Given the description of an element on the screen output the (x, y) to click on. 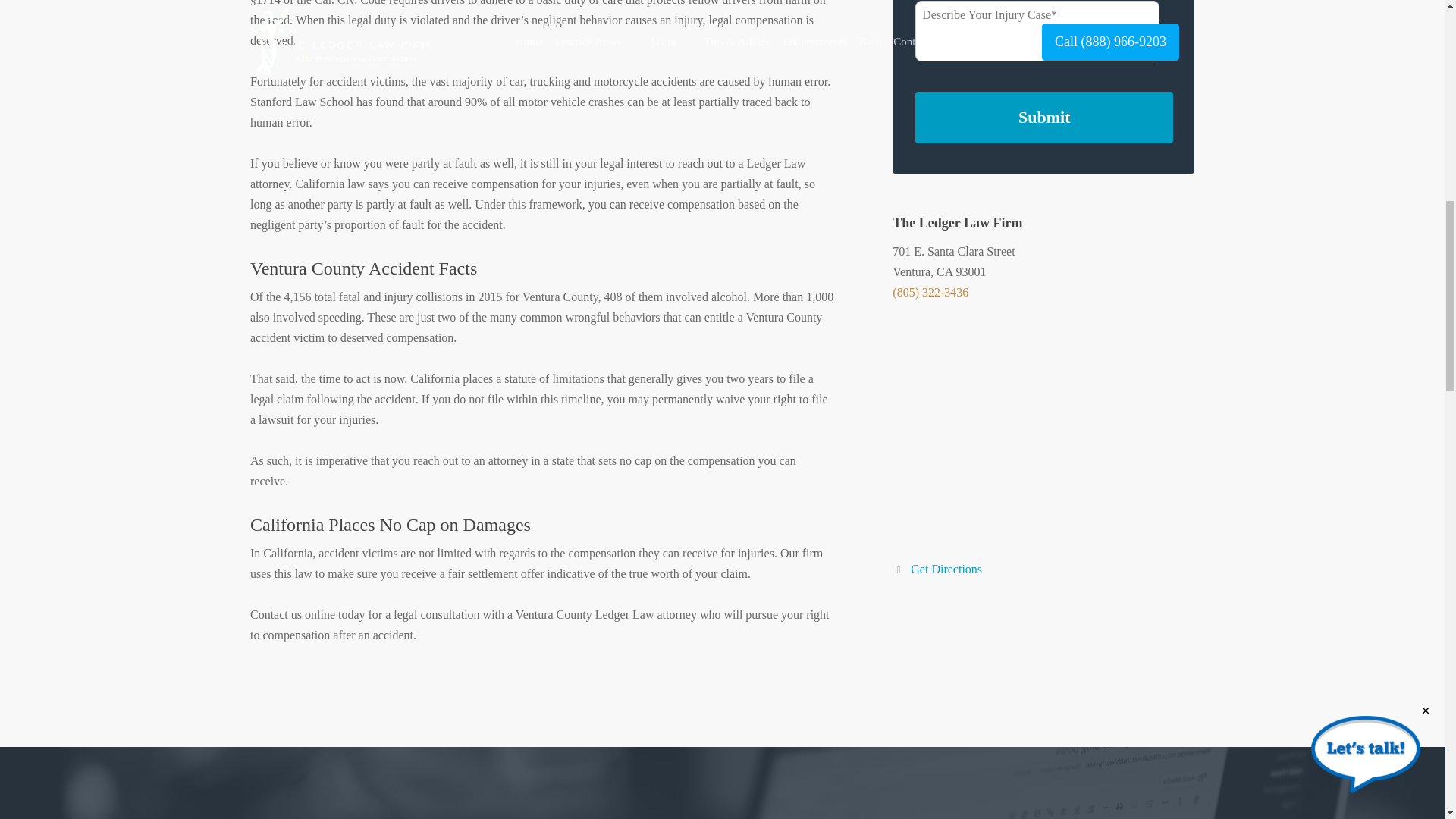
Submit (1044, 117)
Get Directions (936, 568)
Submit (1044, 117)
